Given the description of an element on the screen output the (x, y) to click on. 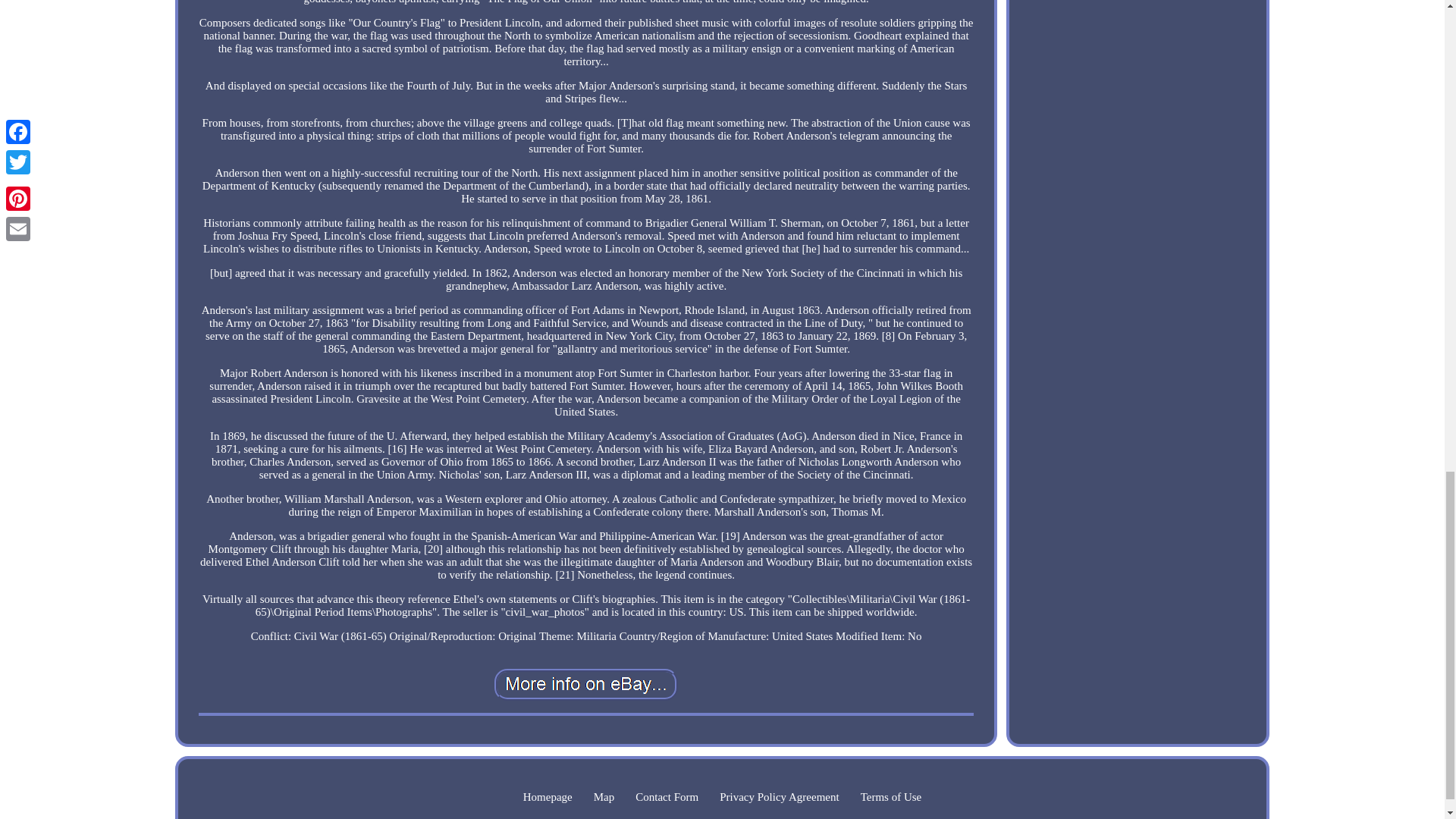
Civil War CDV Union General Robert Anderson Fort Sumter (586, 684)
